Given the description of an element on the screen output the (x, y) to click on. 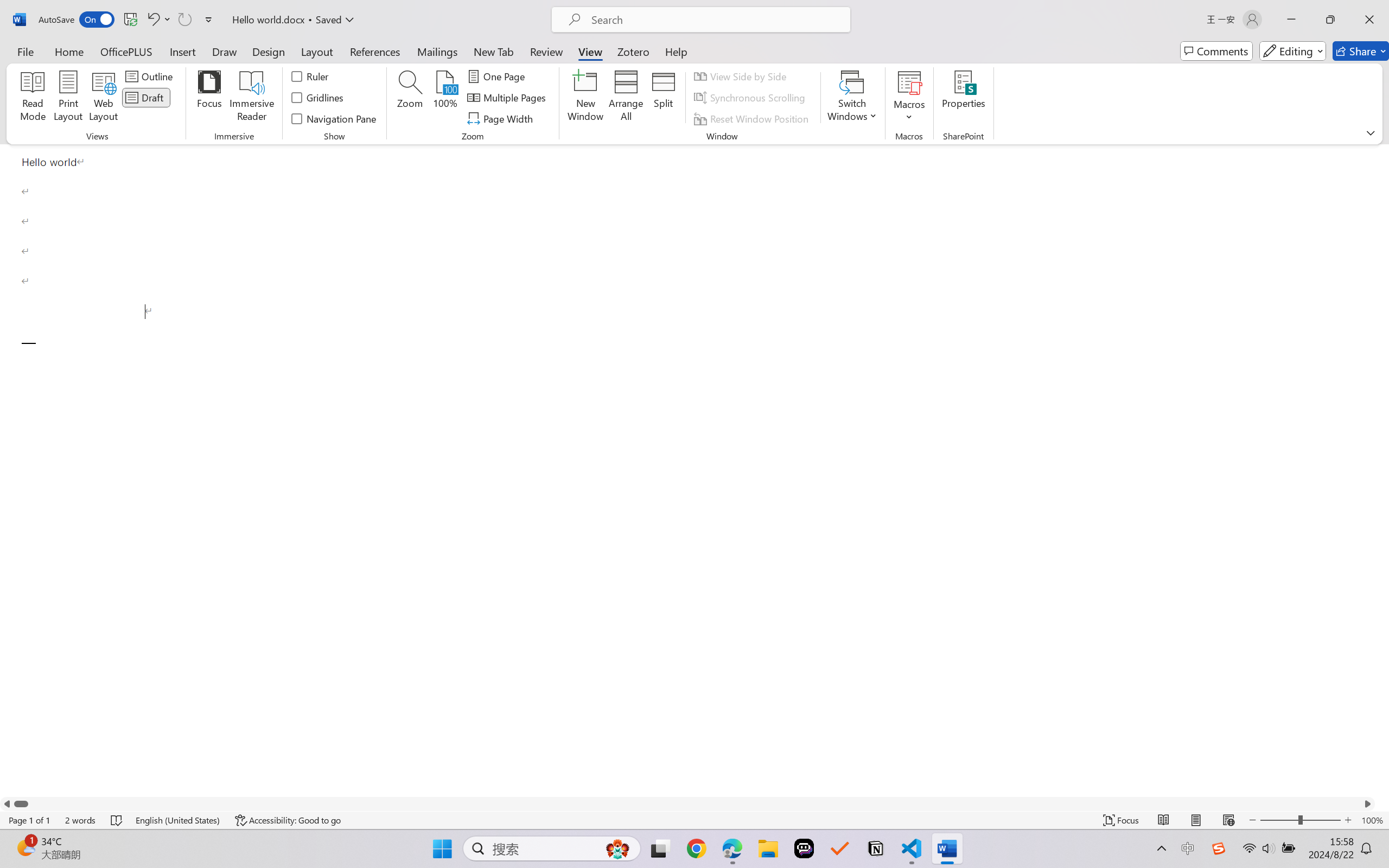
New comment (1219, 131)
Post comment (Ctrl + Enter) (1315, 209)
Screen Recording (157, 62)
Save as Show (292, 62)
Zoom 214% (1364, 837)
